Given the description of an element on the screen output the (x, y) to click on. 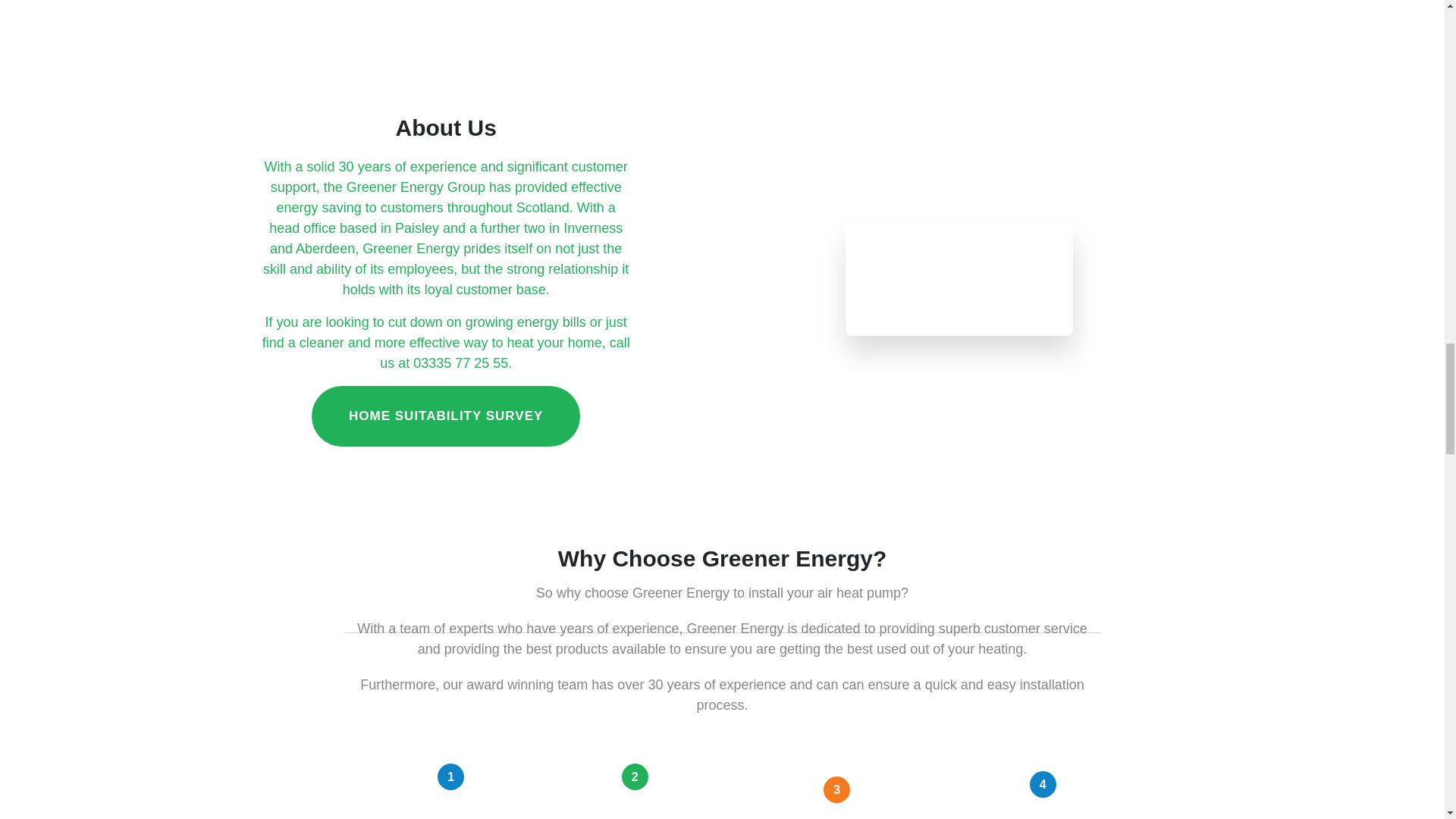
HOME SUITABILITY SURVEY (445, 415)
